Given the description of an element on the screen output the (x, y) to click on. 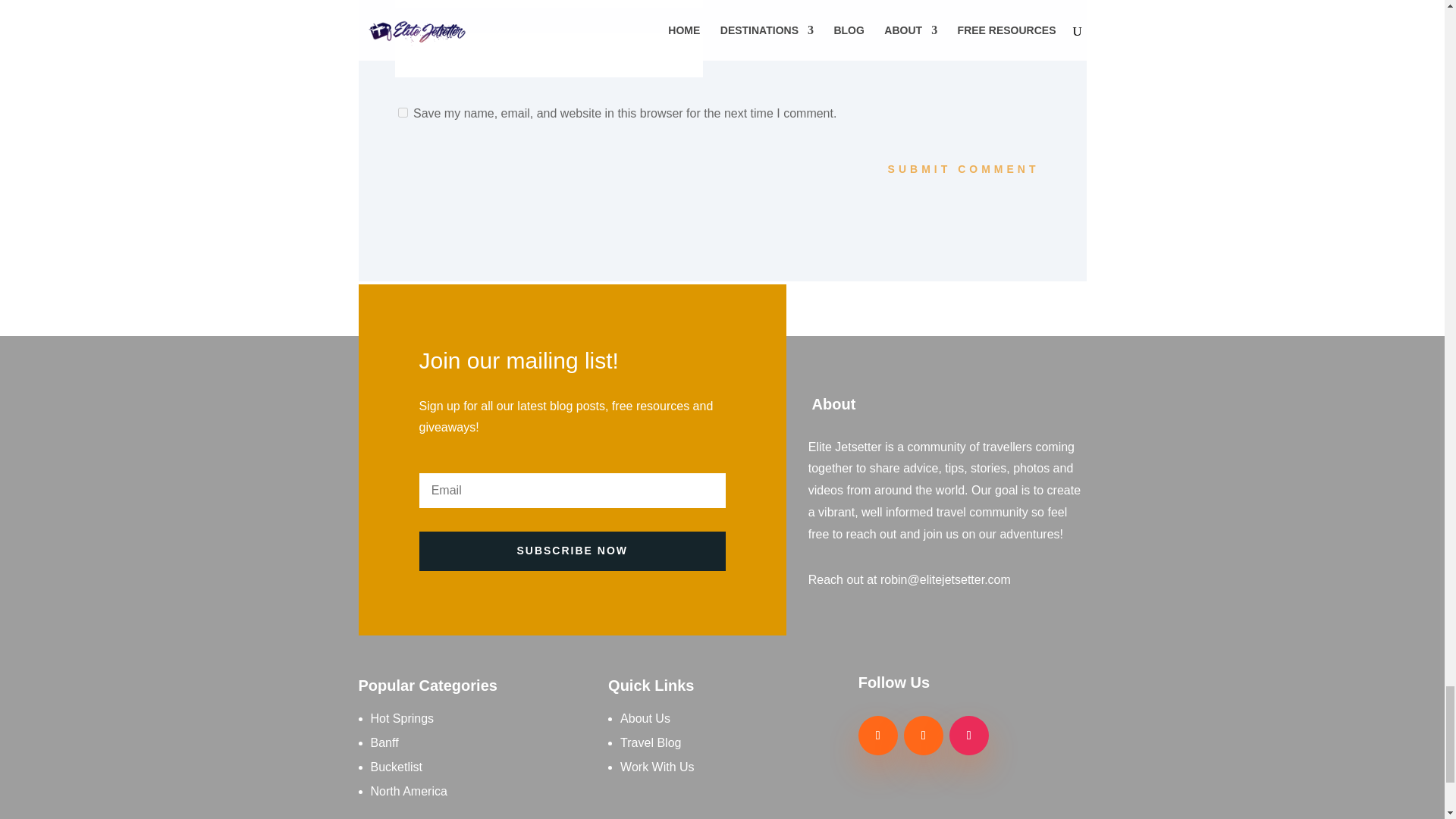
Follow on Instagram (968, 735)
yes (402, 112)
Follow on X (923, 735)
Follow on Facebook (878, 735)
